Given the description of an element on the screen output the (x, y) to click on. 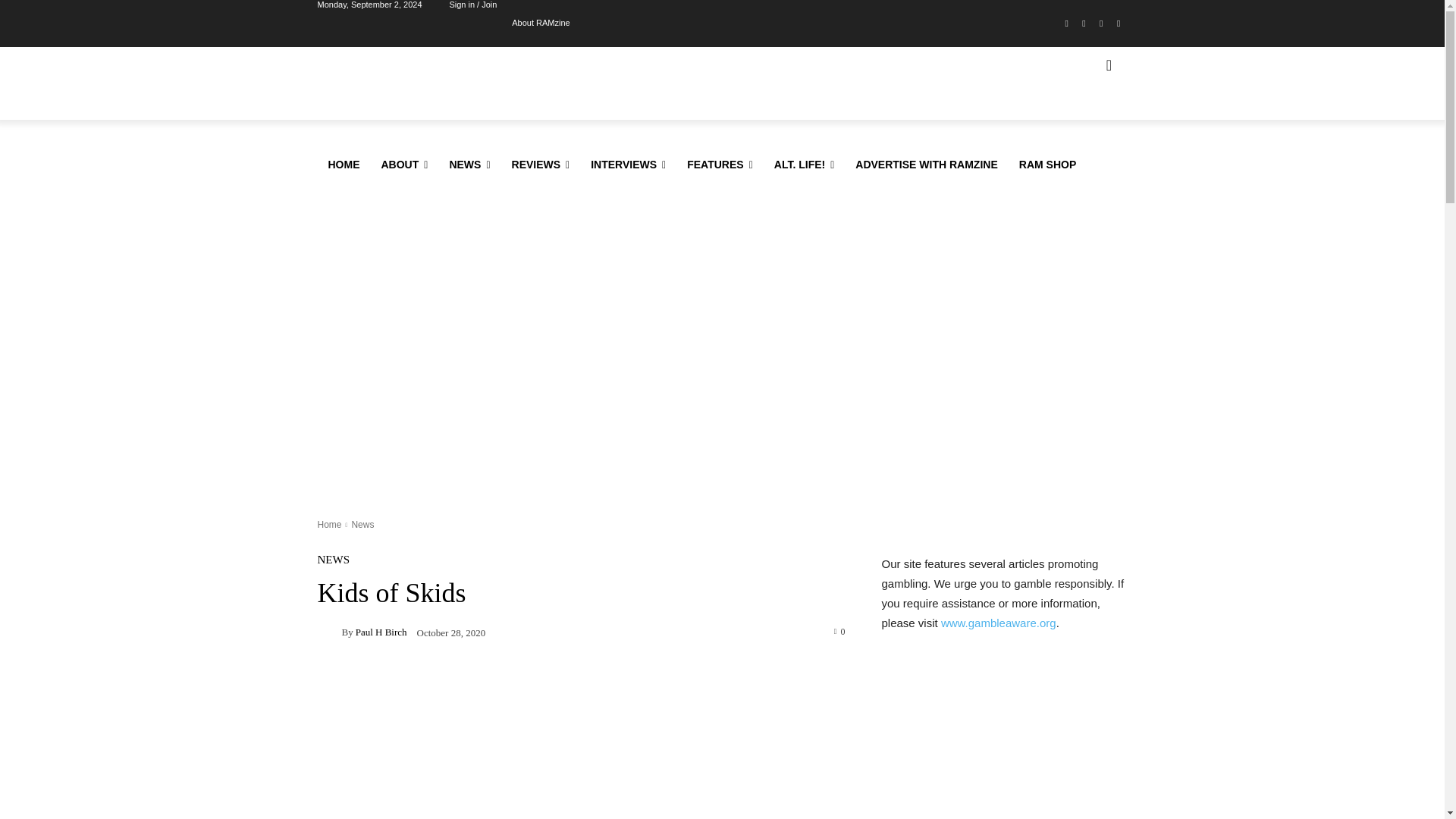
Instagram (1084, 23)
Facebook (1066, 23)
Youtube (1117, 23)
Twitter (1101, 23)
